Given the description of an element on the screen output the (x, y) to click on. 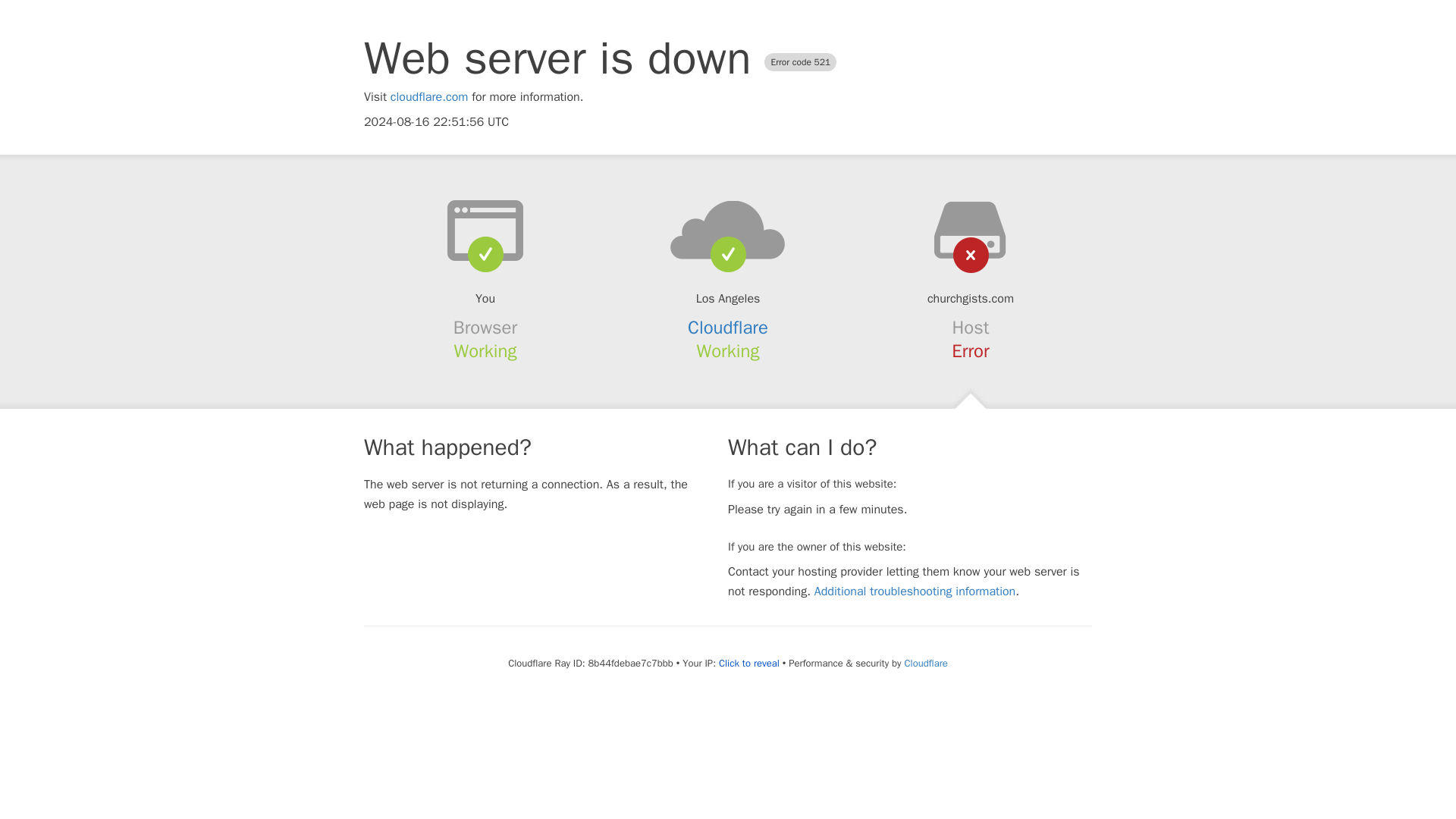
Click to reveal (748, 663)
Cloudflare (925, 662)
Cloudflare (727, 327)
cloudflare.com (429, 96)
Additional troubleshooting information (913, 590)
